Given the description of an element on the screen output the (x, y) to click on. 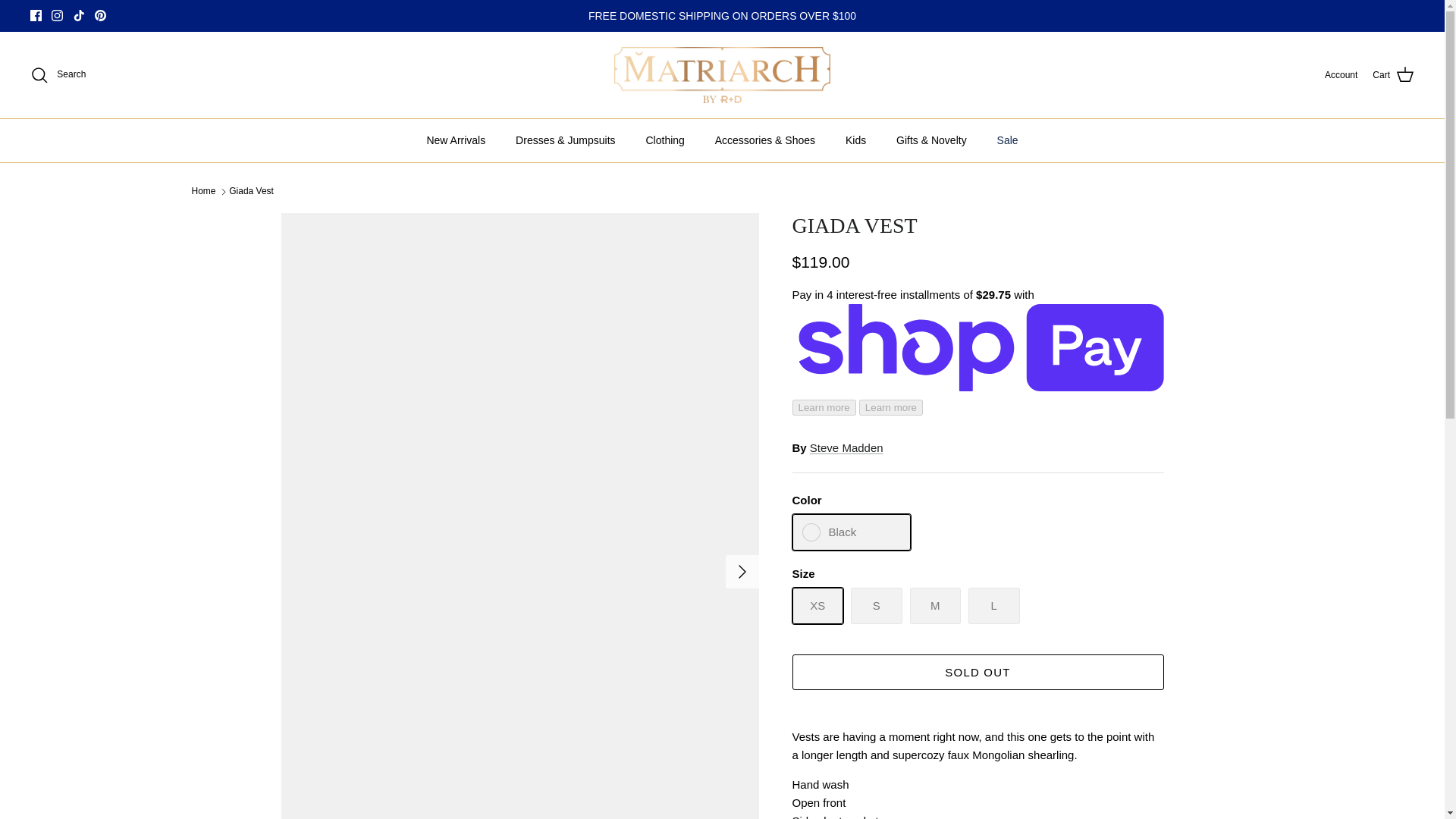
Cart (1393, 75)
Clothing (664, 140)
Pinterest (100, 15)
RIGHT (741, 571)
New Arrivals (455, 140)
Pinterest (100, 15)
Facebook (36, 15)
Account (1340, 74)
Search (57, 75)
Instagram (56, 15)
Facebook (36, 15)
Instagram (56, 15)
